Given the description of an element on the screen output the (x, y) to click on. 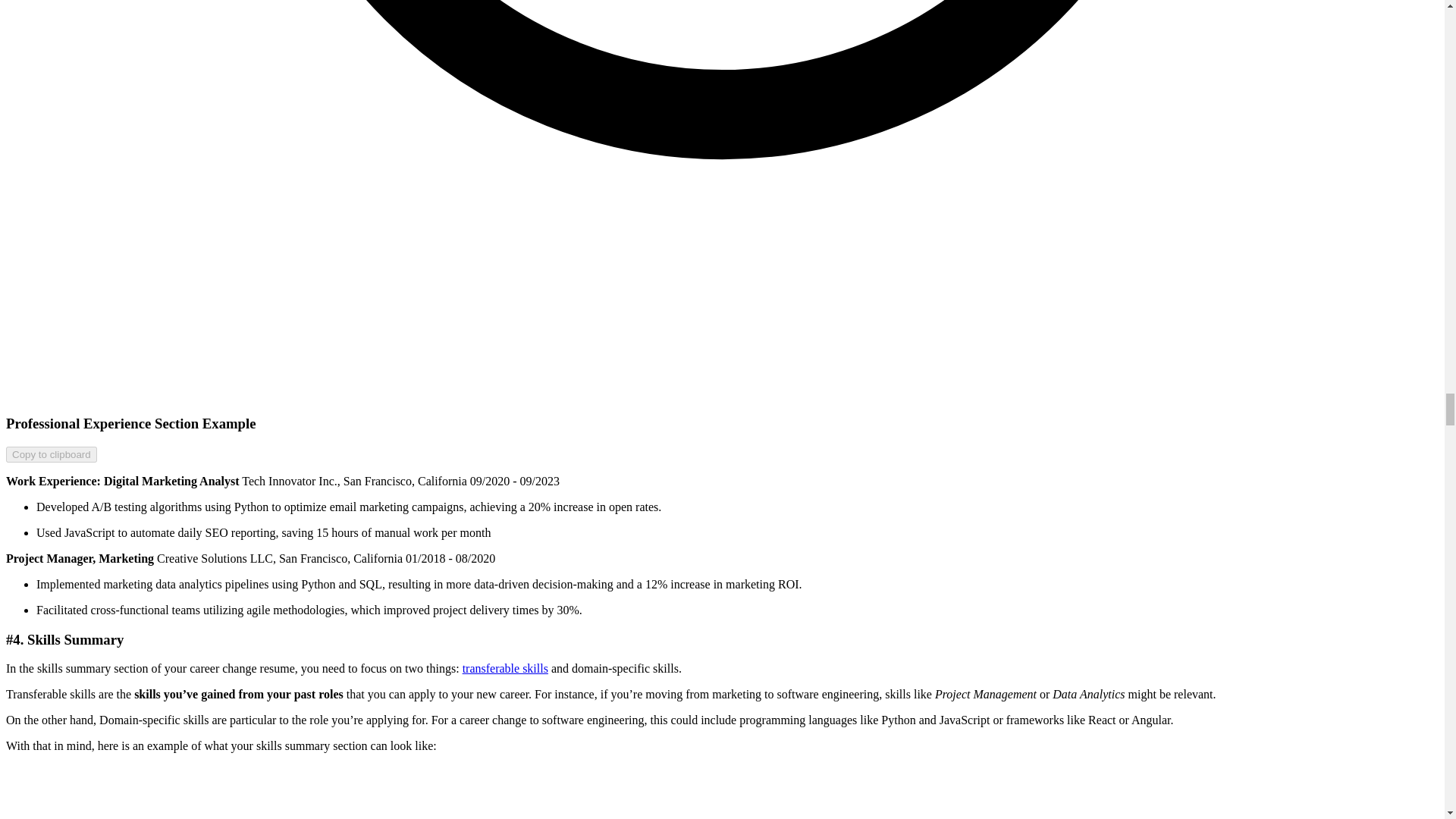
Copy to clipboard (51, 454)
transferable skills (505, 667)
